Given the description of an element on the screen output the (x, y) to click on. 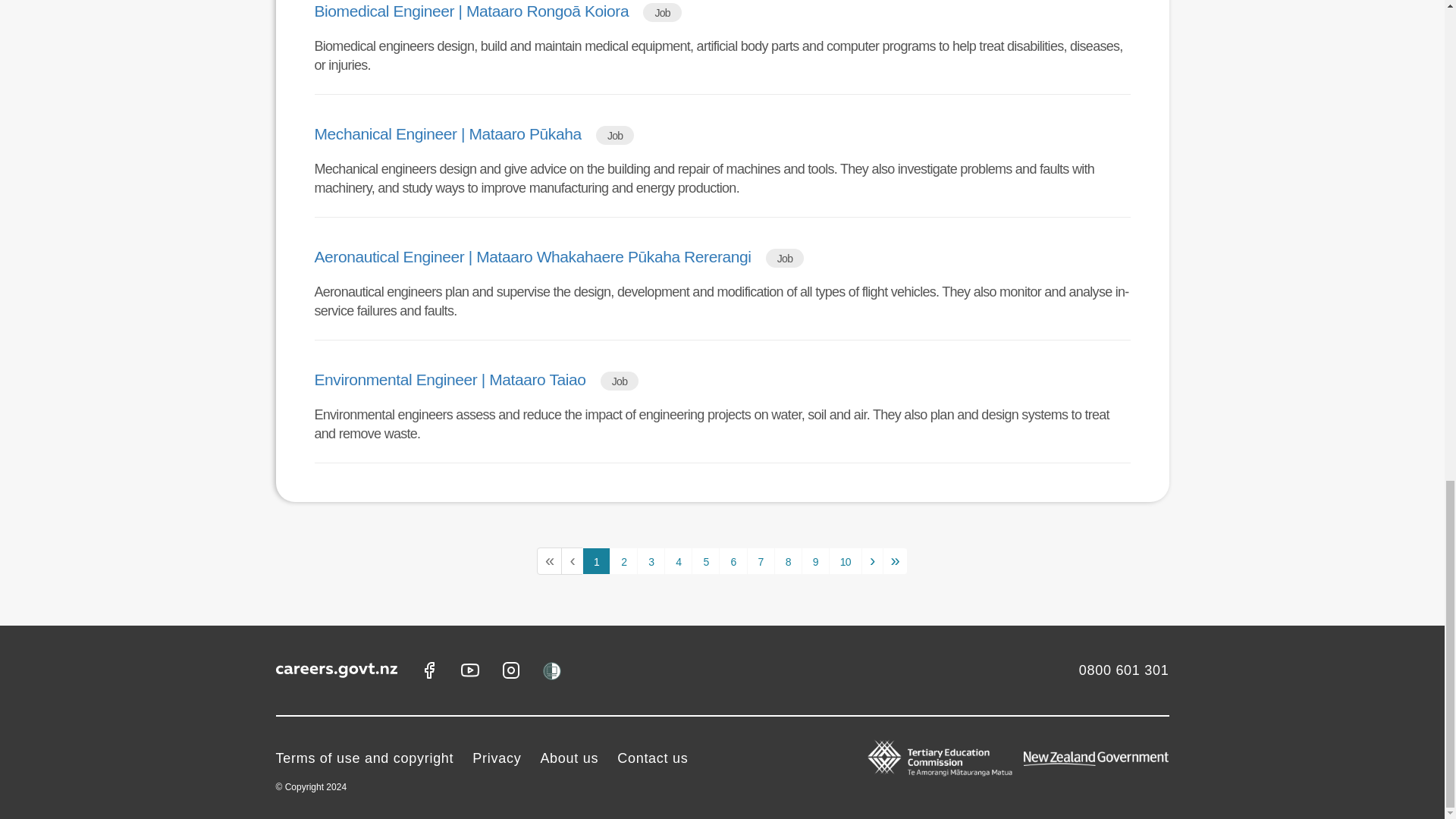
View page number 6 (732, 560)
View page number 4 (678, 560)
View page number 9 (815, 560)
View page number 7 (760, 560)
View page number 3 (651, 560)
View page number 1 (596, 560)
View page number 5 (705, 560)
View page number 10 (844, 560)
View page number 2 (623, 560)
View page number 8 (788, 560)
